Given the description of an element on the screen output the (x, y) to click on. 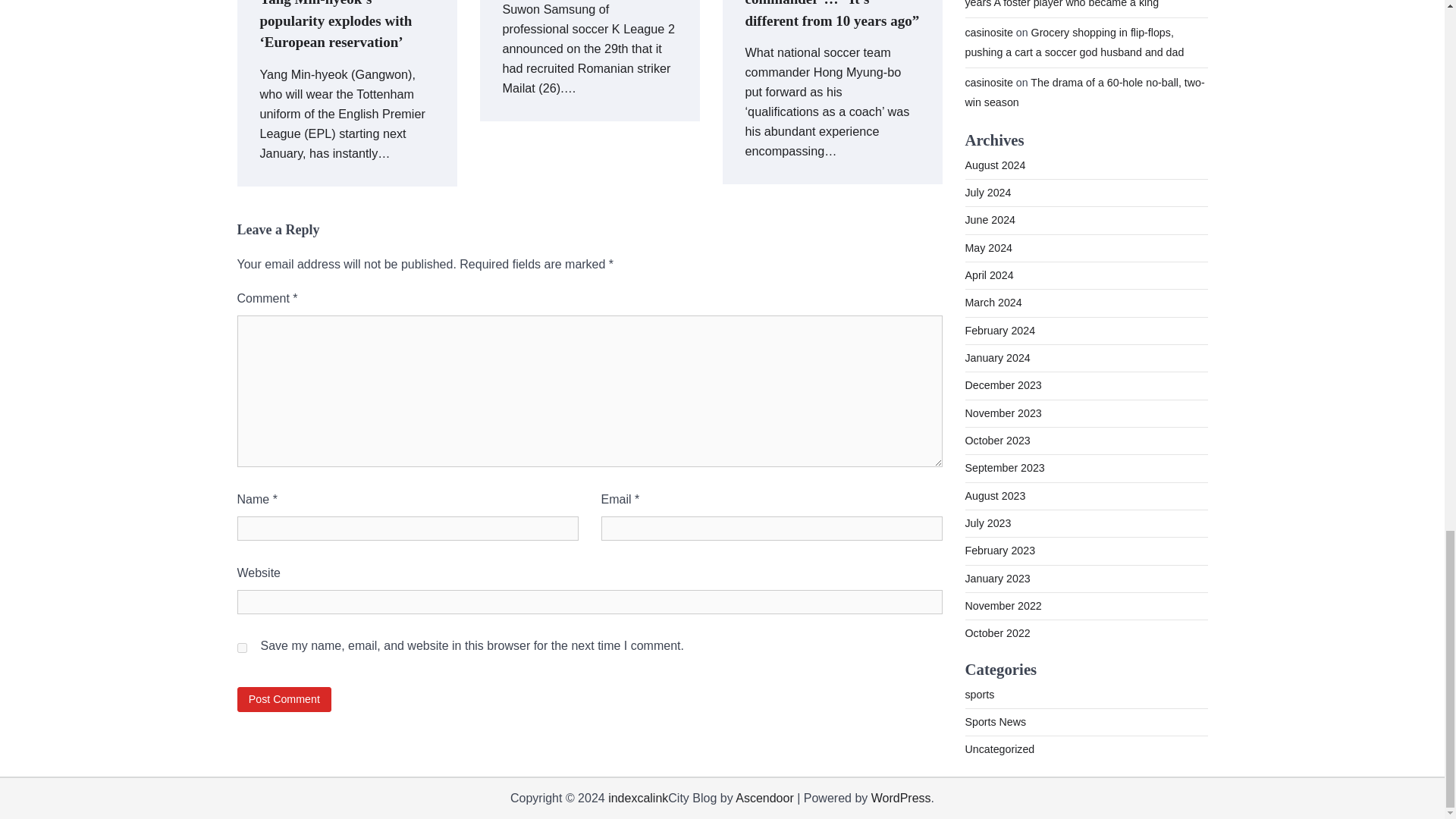
Post Comment (283, 699)
yes (240, 647)
Post Comment (283, 699)
